Given the description of an element on the screen output the (x, y) to click on. 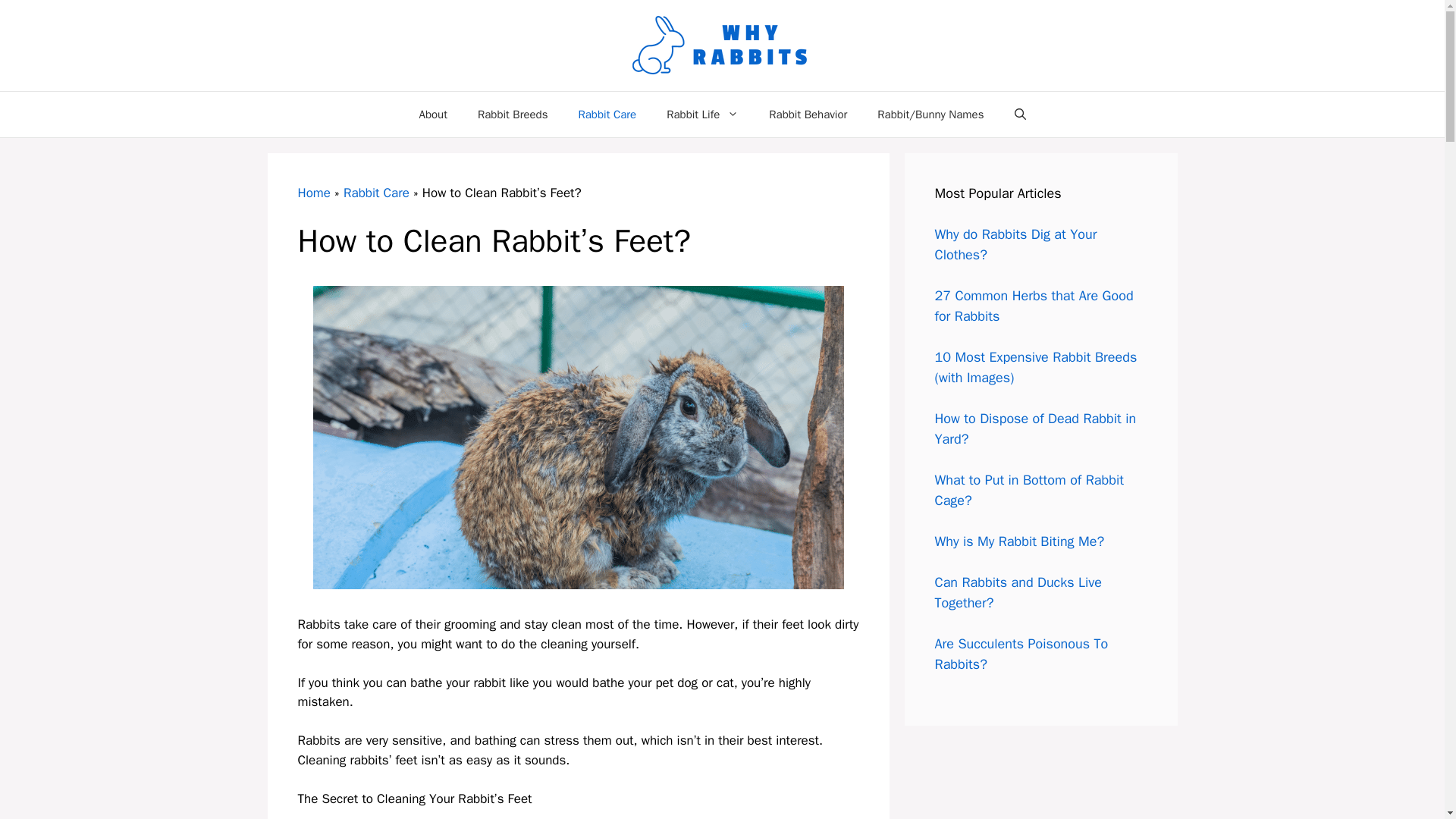
Why do Rabbits Dig at Your Clothes? (1015, 244)
Rabbit Care (376, 192)
Rabbit Breeds (513, 114)
Home (313, 192)
27 Common Herbs that Are Good for Rabbits (1033, 305)
About (432, 114)
Rabbit Care (606, 114)
Rabbit Life (702, 114)
Rabbit Behavior (807, 114)
